Given the description of an element on the screen output the (x, y) to click on. 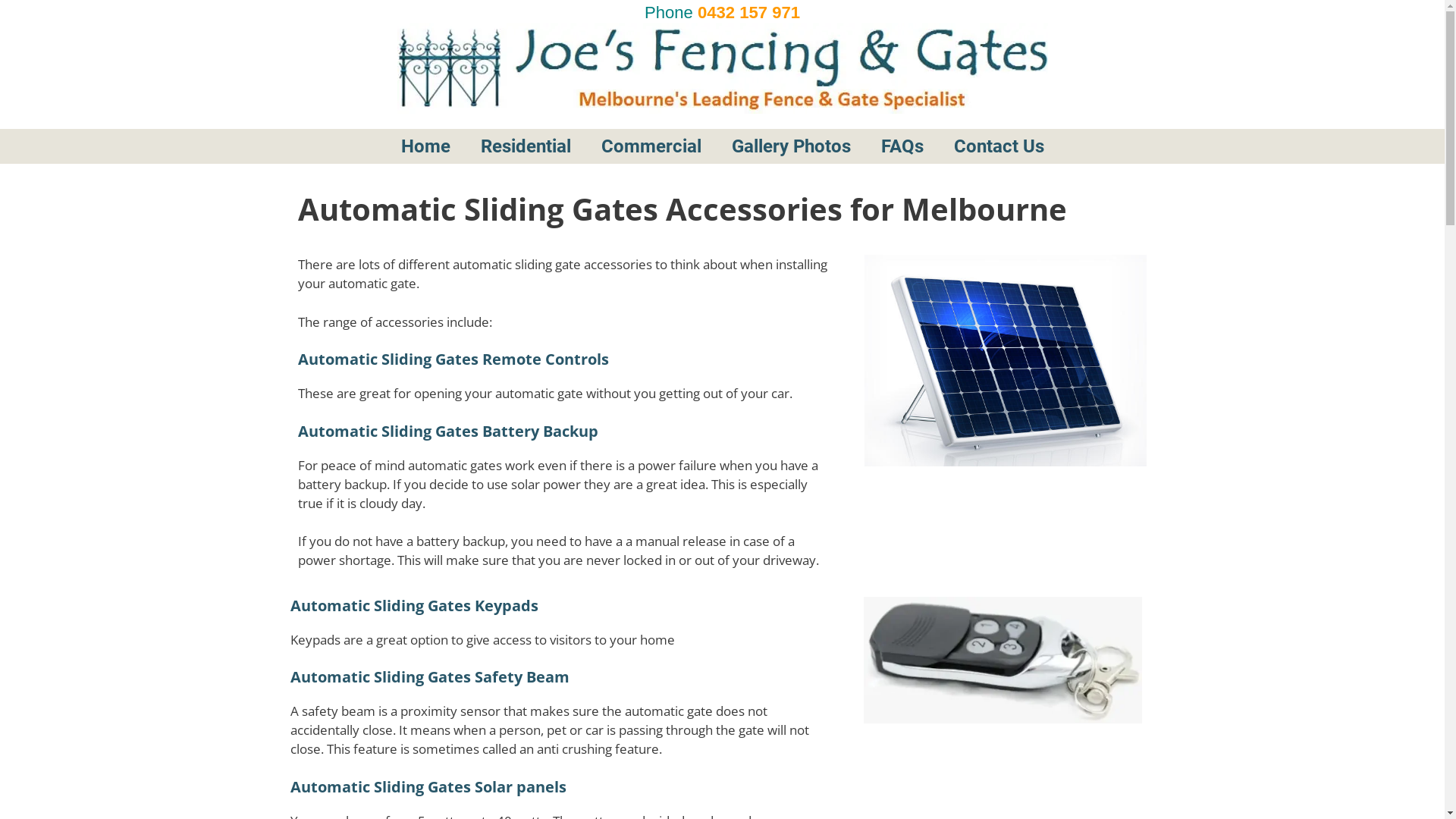
FAQs Element type: text (902, 145)
Home Element type: text (456, 145)
Contact Us Element type: text (1029, 145)
Residential Element type: text (525, 145)
Home Element type: text (424, 145)
Gallery Photos Element type: text (790, 145)
Commercial Element type: text (650, 145)
Commercial Element type: text (682, 145)
cropped-joesicon.jpg Element type: hover (300, 147)
0432 157 971 Element type: text (748, 12)
Gallery Photos Element type: text (822, 145)
Contact Us Element type: text (998, 145)
Residential Element type: text (556, 145)
FAQs Element type: text (933, 145)
